Given the description of an element on the screen output the (x, y) to click on. 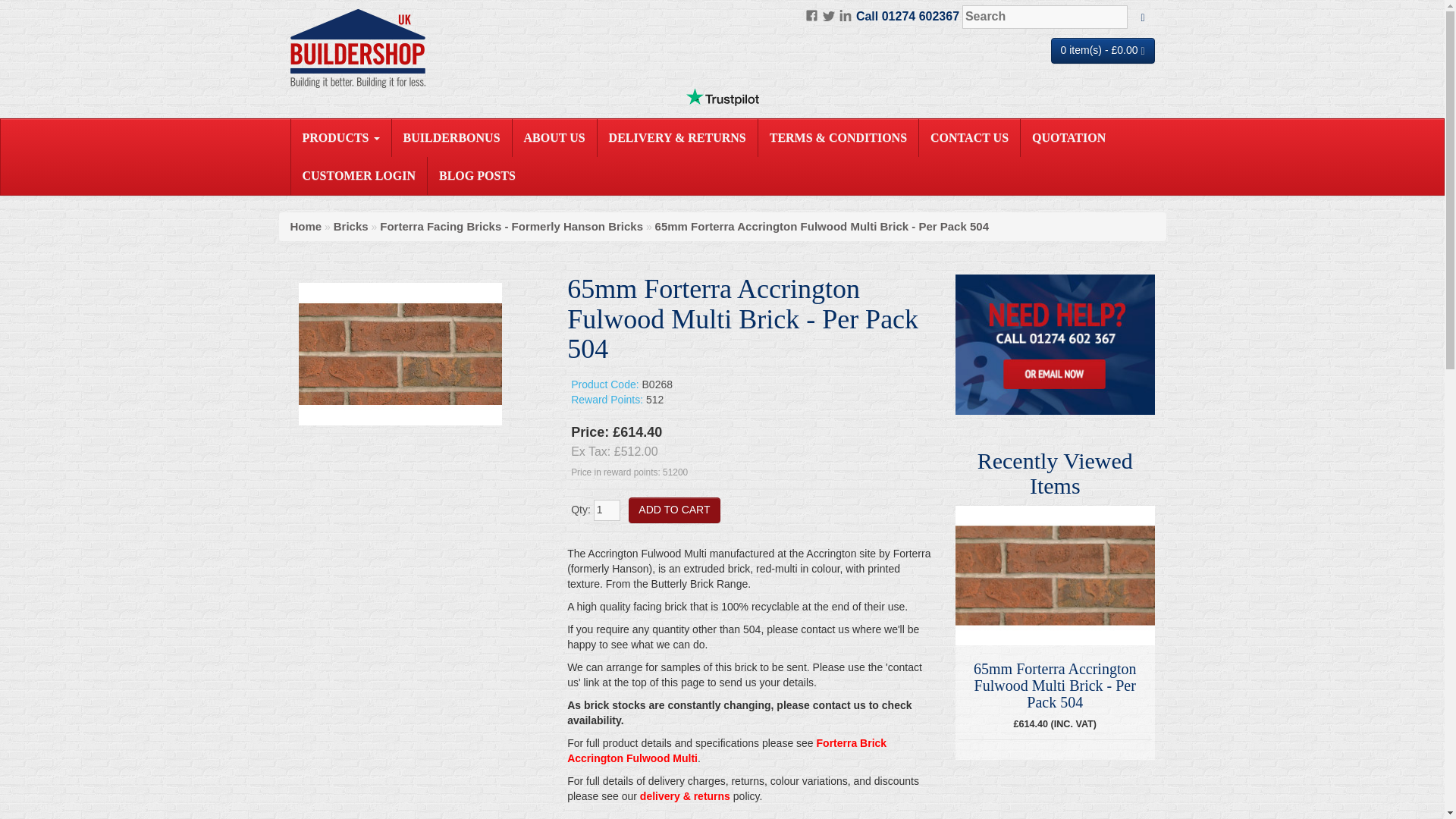
65mm Forterra Accrington Fulwood Multi Brick - Per Pack 504 (400, 353)
PRODUCTS (341, 137)
Customer reviews powered by Trustpilot (721, 96)
Add to Cart (673, 510)
1 (607, 509)
65mm Forterra Accrington Fulwood Multi Brick - Per Pack 504 (400, 353)
